Given the description of an element on the screen output the (x, y) to click on. 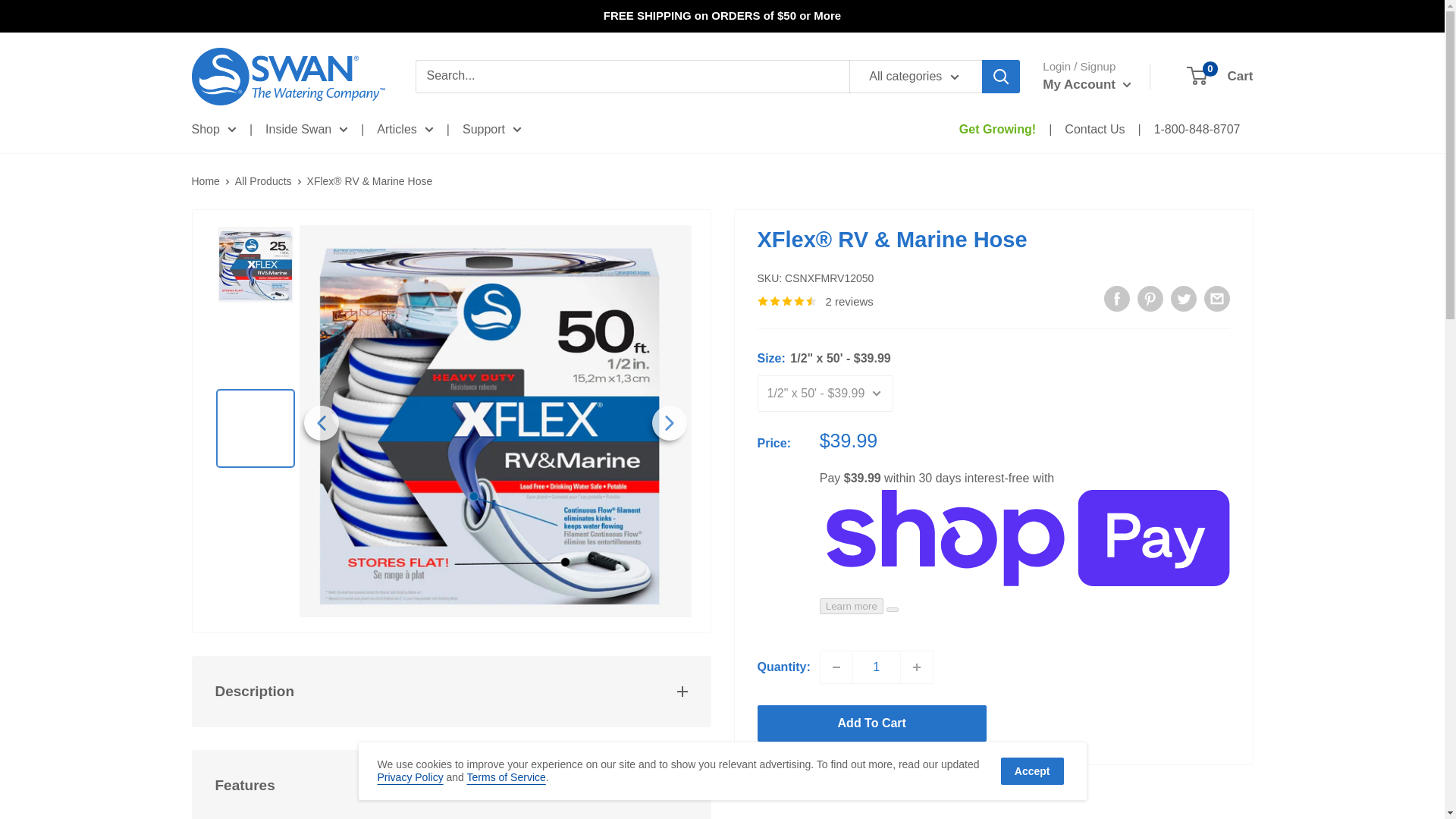
Terms of Service (506, 776)
Privacy Policy (410, 776)
1 (876, 667)
Decrease quantity by 1 (836, 667)
Increase quantity by 1 (917, 667)
